Given the description of an element on the screen output the (x, y) to click on. 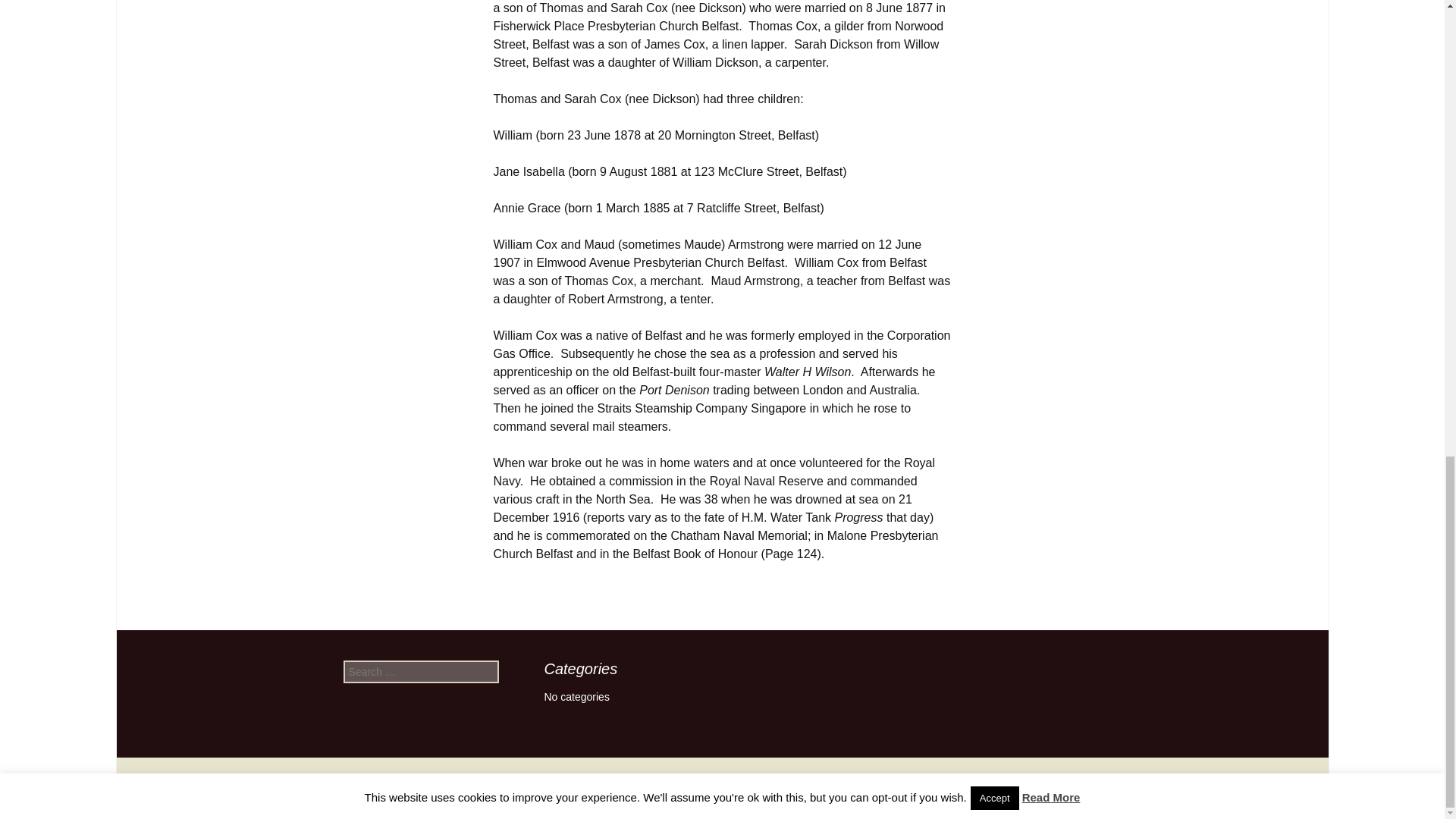
Semantic Personal Publishing Platform (721, 787)
Proudly powered by WordPress (721, 787)
